Given the description of an element on the screen output the (x, y) to click on. 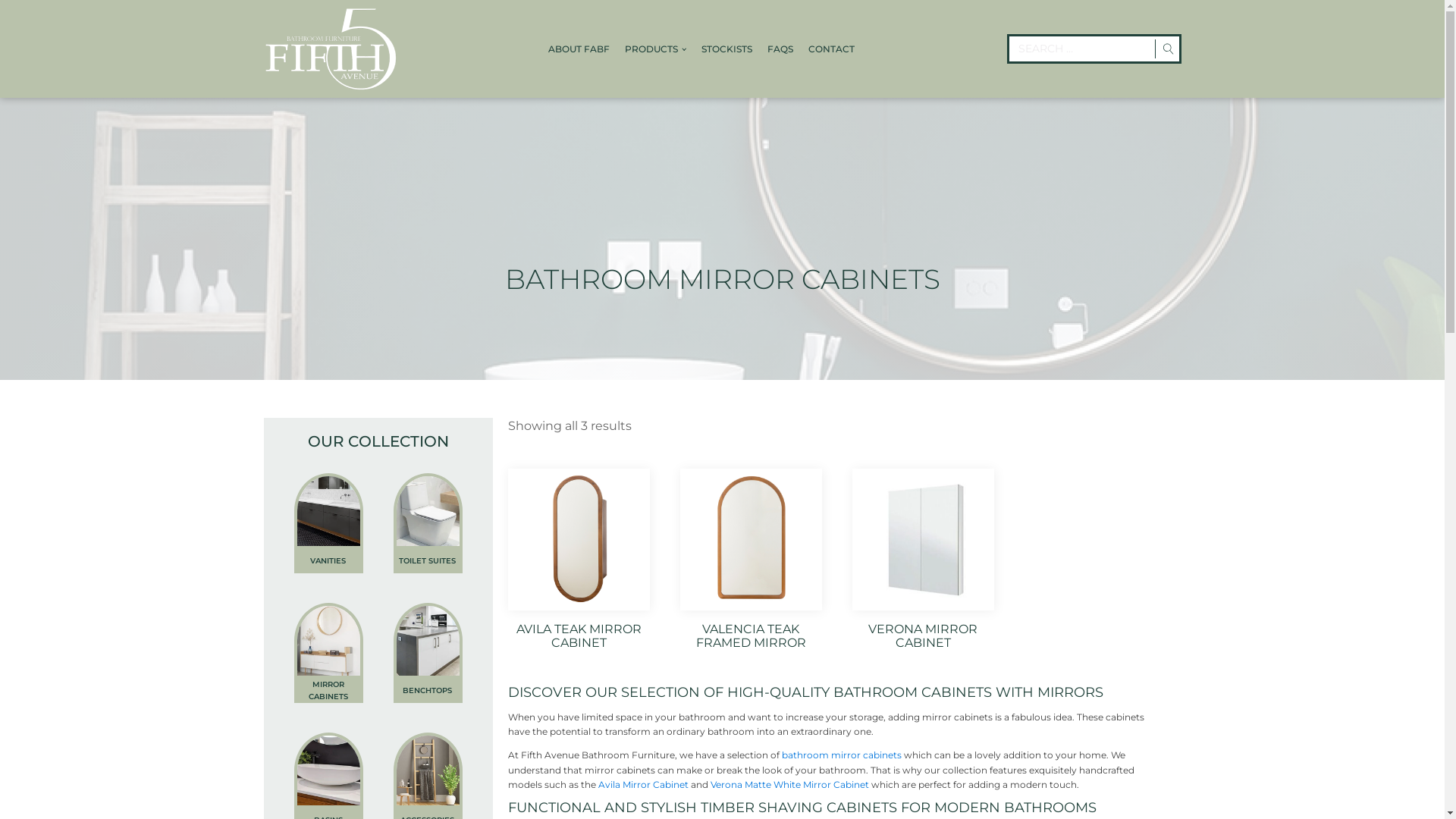
VERONA MIRROR CABINET Element type: text (923, 561)
FAQS Element type: text (779, 48)
STOCKISTS Element type: text (726, 48)
CONTACT Element type: text (831, 48)
bathroom mirror cabinets Element type: text (841, 754)
ABOUT FABF Element type: text (578, 48)
BENCHTOPS Element type: text (427, 690)
AVILA TEAK MIRROR CABINET Element type: text (578, 561)
PRODUCTS Element type: text (655, 48)
Avila Mirror Cabinet Element type: text (643, 784)
VALENCIA TEAK FRAMED MIRROR Element type: text (751, 561)
TOILET SUITES Element type: text (427, 561)
Verona Matte White Mirror Cabinet Element type: text (789, 784)
VANITIES Element type: text (328, 561)
MIRROR CABINETS Element type: text (328, 690)
Search Element type: text (26, 15)
